Given the description of an element on the screen output the (x, y) to click on. 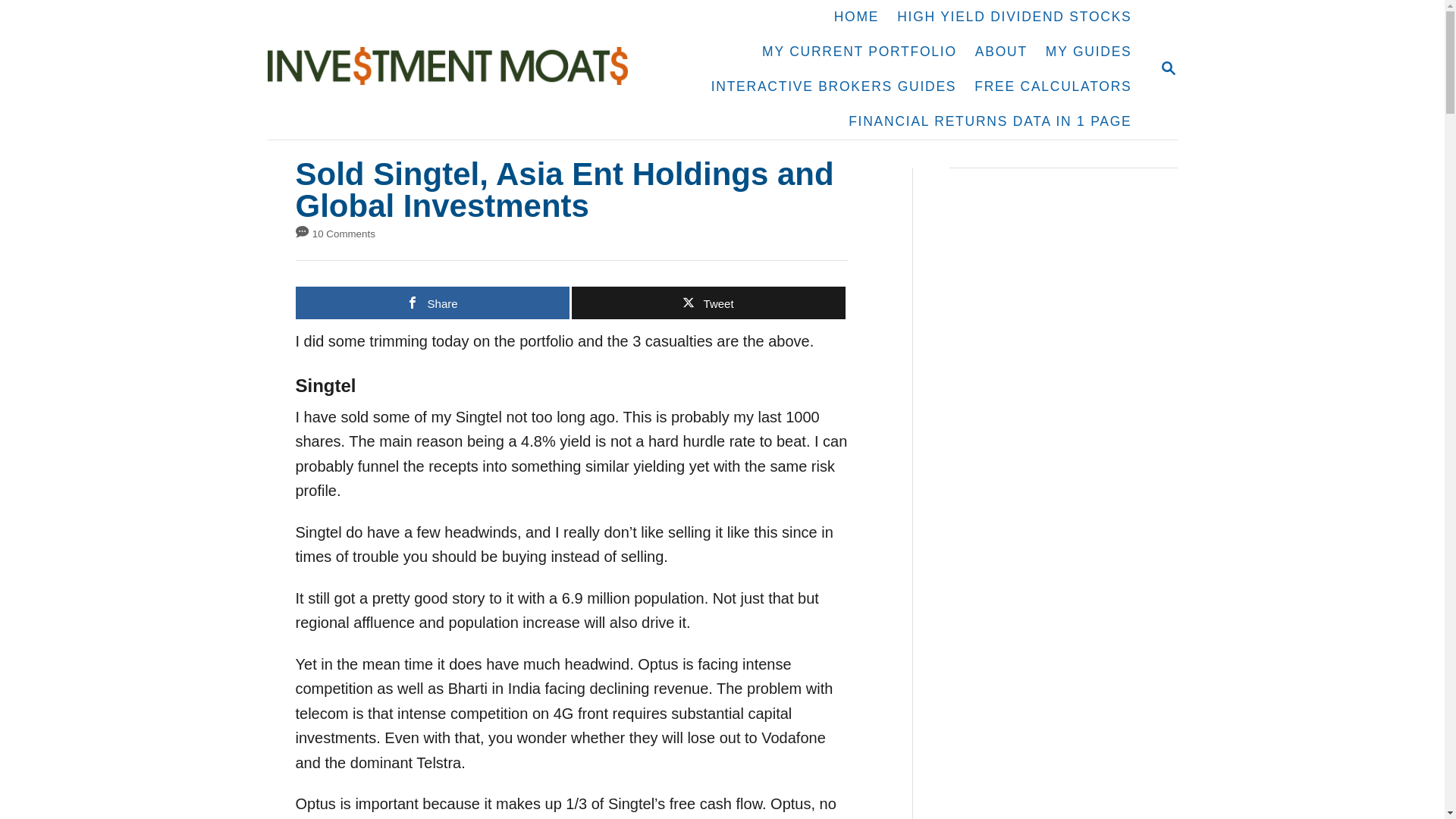
MAGNIFYING GLASS (1167, 67)
ABOUT (1001, 52)
FREE CALCULATORS (1052, 86)
FINANCIAL RETURNS DATA IN 1 PAGE (990, 121)
HOME (856, 17)
Share (432, 302)
Investment Moats (455, 69)
HIGH YIELD DIVIDEND STOCKS (1014, 17)
MY CURRENT PORTFOLIO (1167, 68)
